Given the description of an element on the screen output the (x, y) to click on. 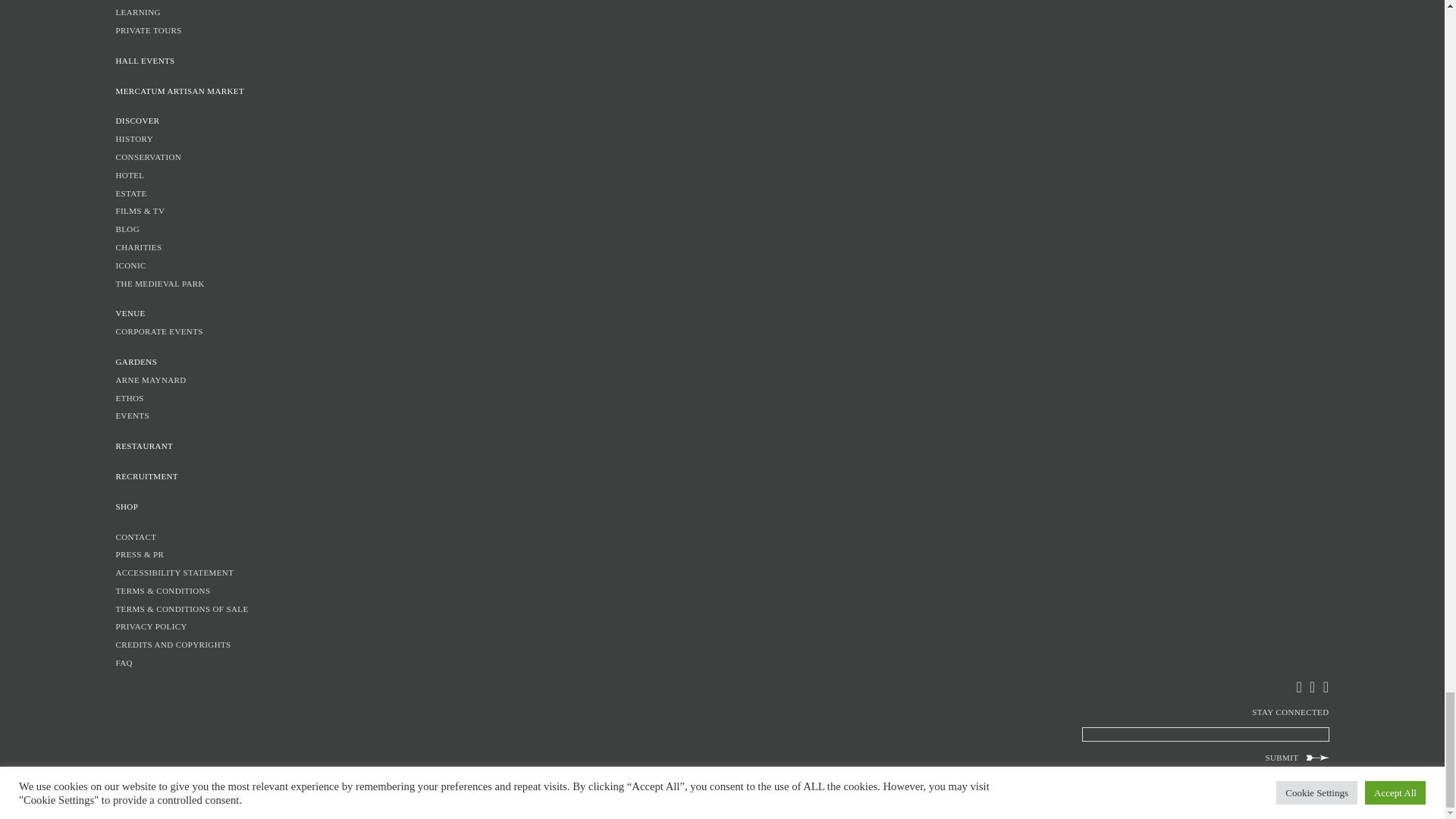
DISCOVER (721, 120)
MERCATUM ARTISAN MARKET (721, 91)
ESTATE (721, 193)
HOTEL (721, 175)
CONSERVATION (721, 157)
PRIVATE TOURS (721, 30)
HALL EVENTS (721, 61)
LEARNING (721, 12)
HISTORY (721, 139)
